Given the description of an element on the screen output the (x, y) to click on. 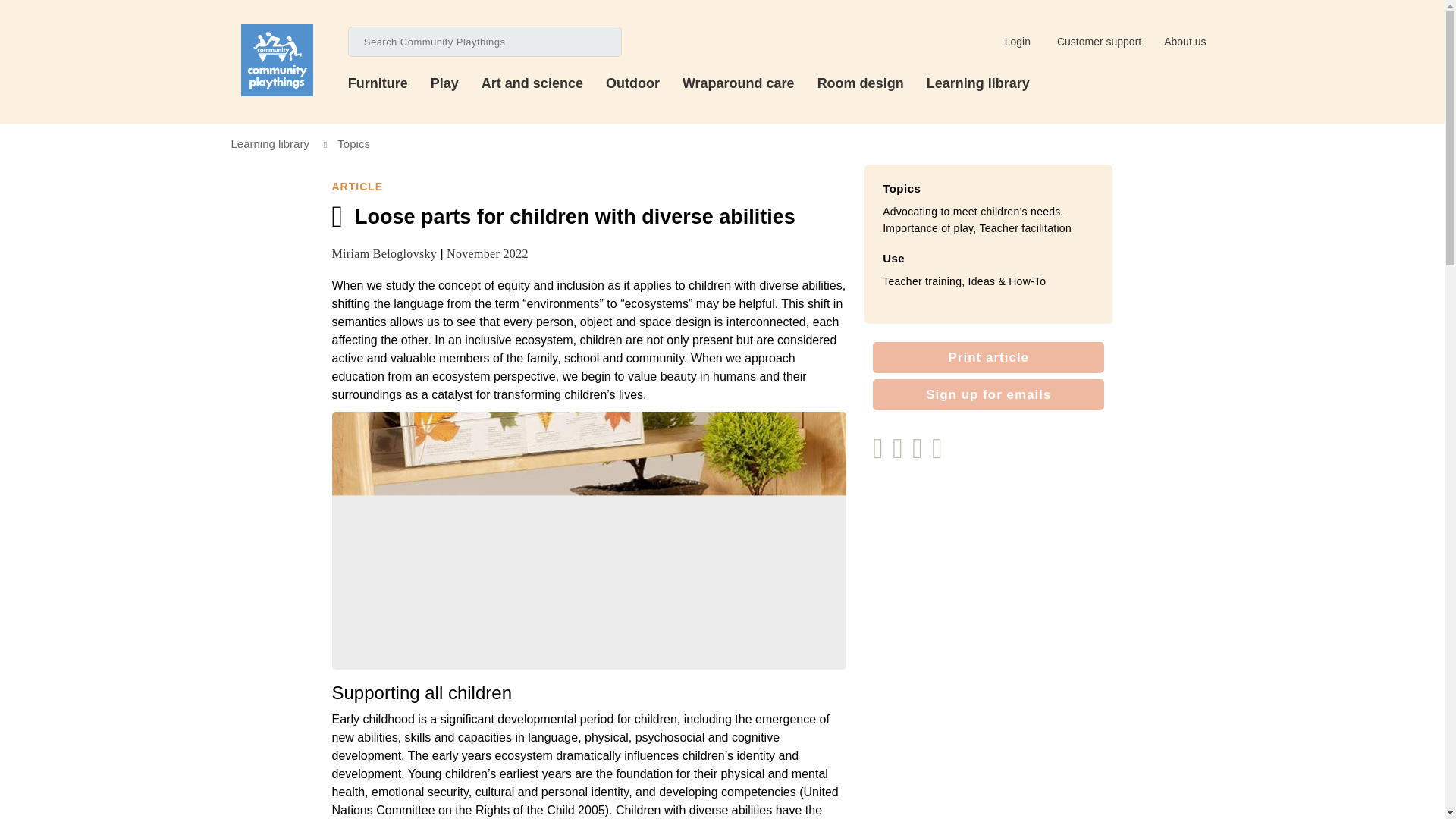
Customer support (1096, 41)
Share by email (940, 453)
Login (1015, 41)
Share on Pinterest (921, 453)
Share on Facebook (902, 453)
About us (1182, 41)
Furniture (388, 77)
Share on Twitter (882, 453)
